Given the description of an element on the screen output the (x, y) to click on. 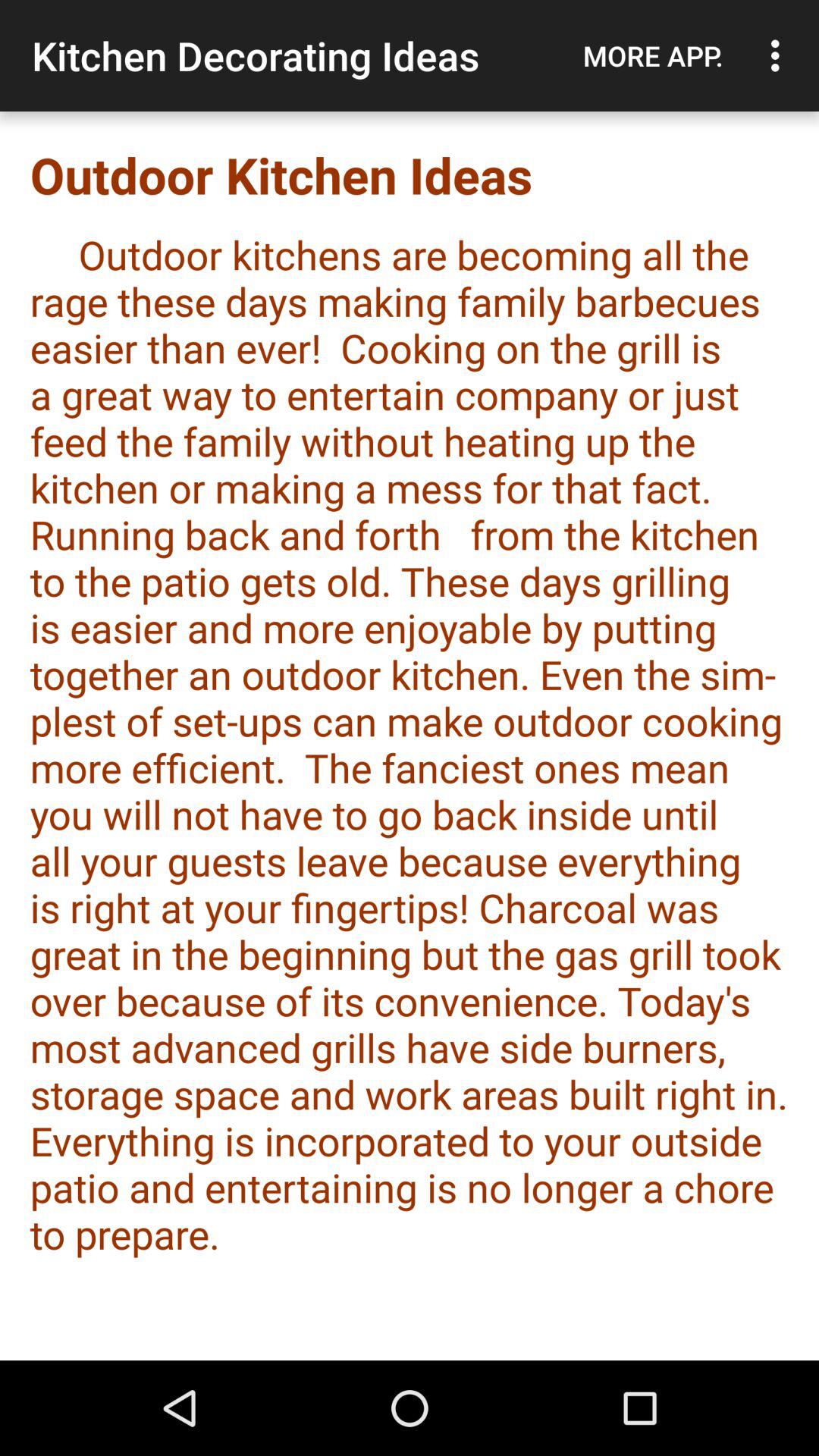
select the icon to the right of kitchen decorating ideas app (653, 55)
